Given the description of an element on the screen output the (x, y) to click on. 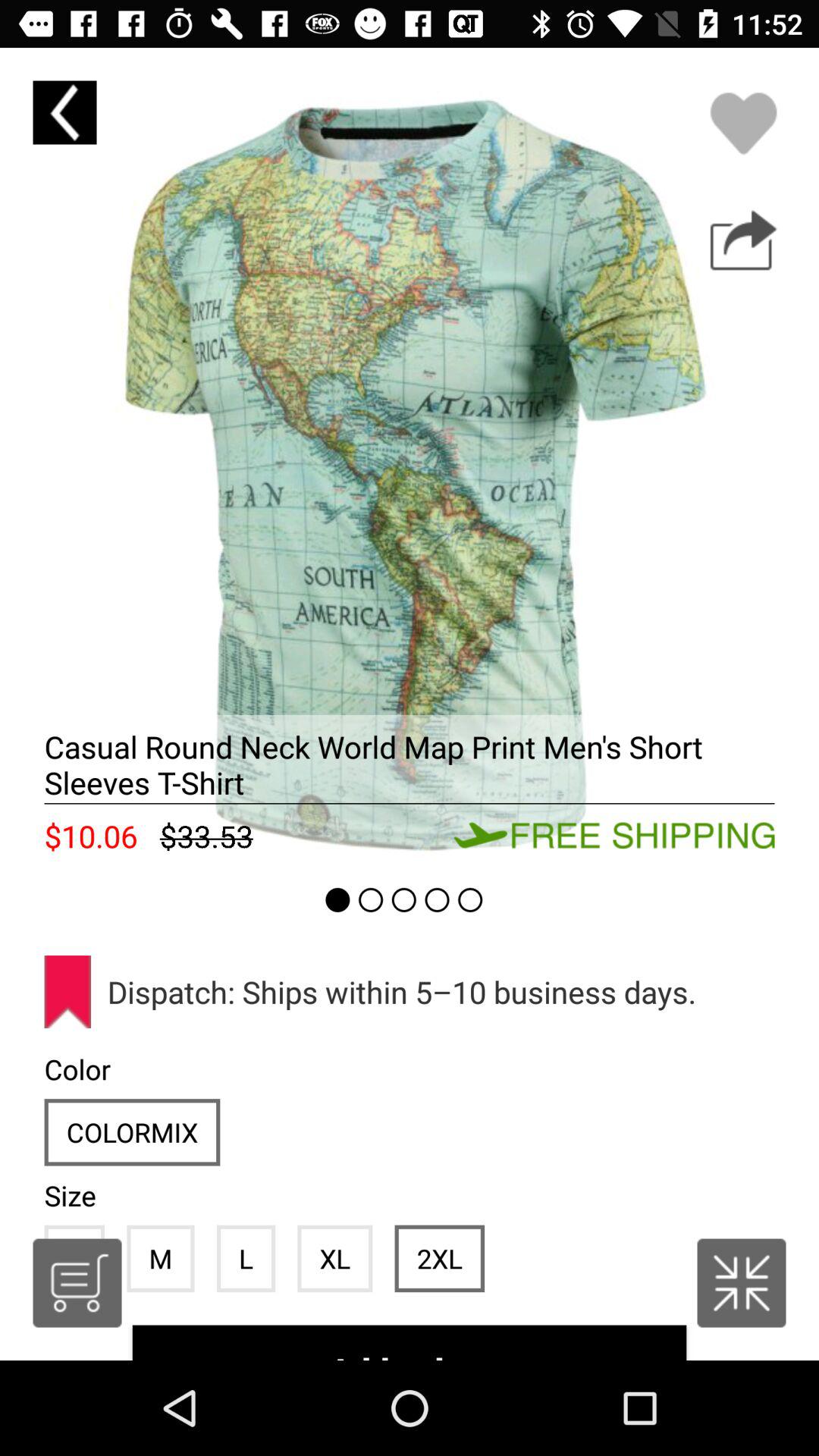
swipe left (409, 456)
